Given the description of an element on the screen output the (x, y) to click on. 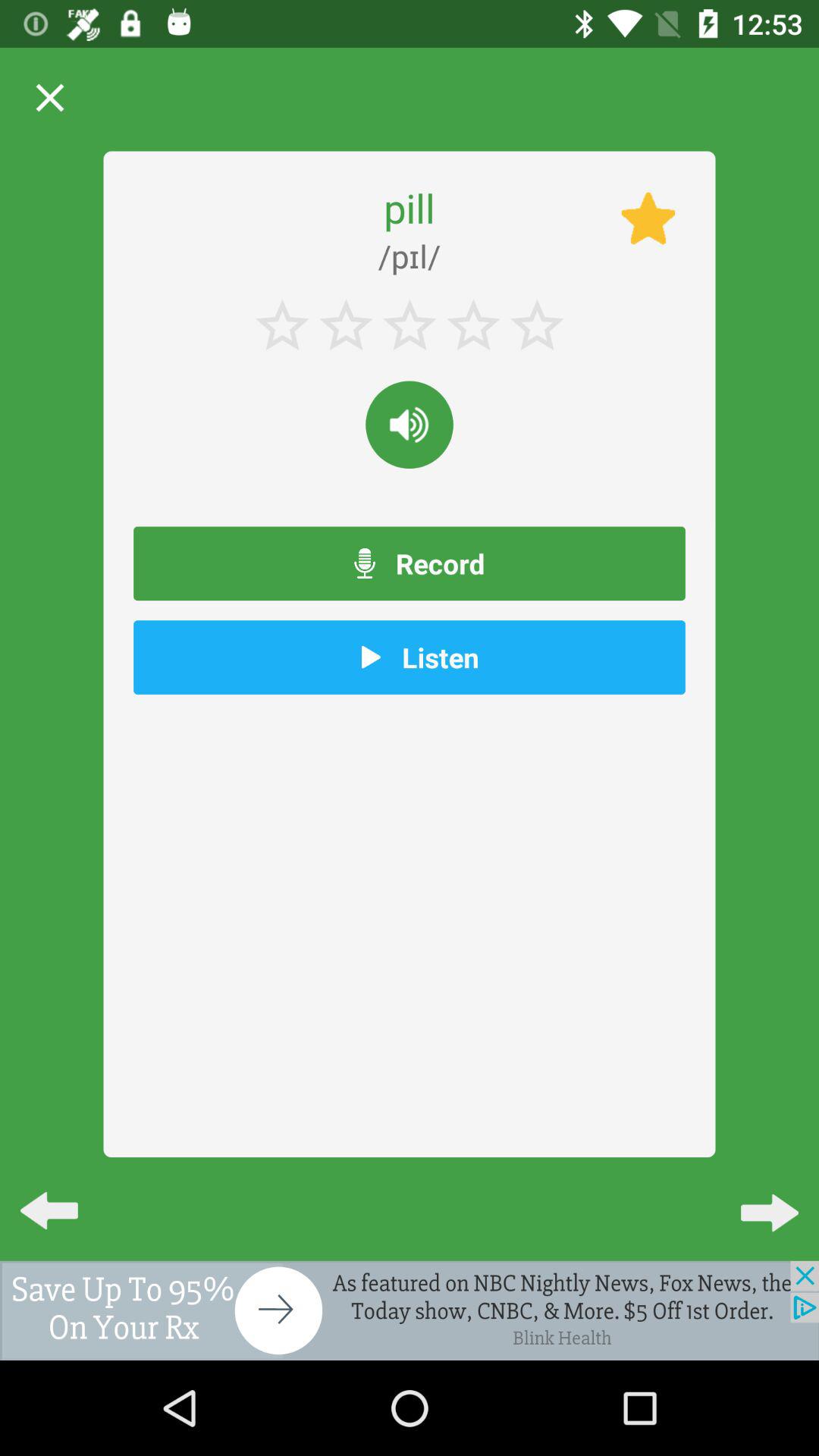
go to sepkar (409, 424)
